Given the description of an element on the screen output the (x, y) to click on. 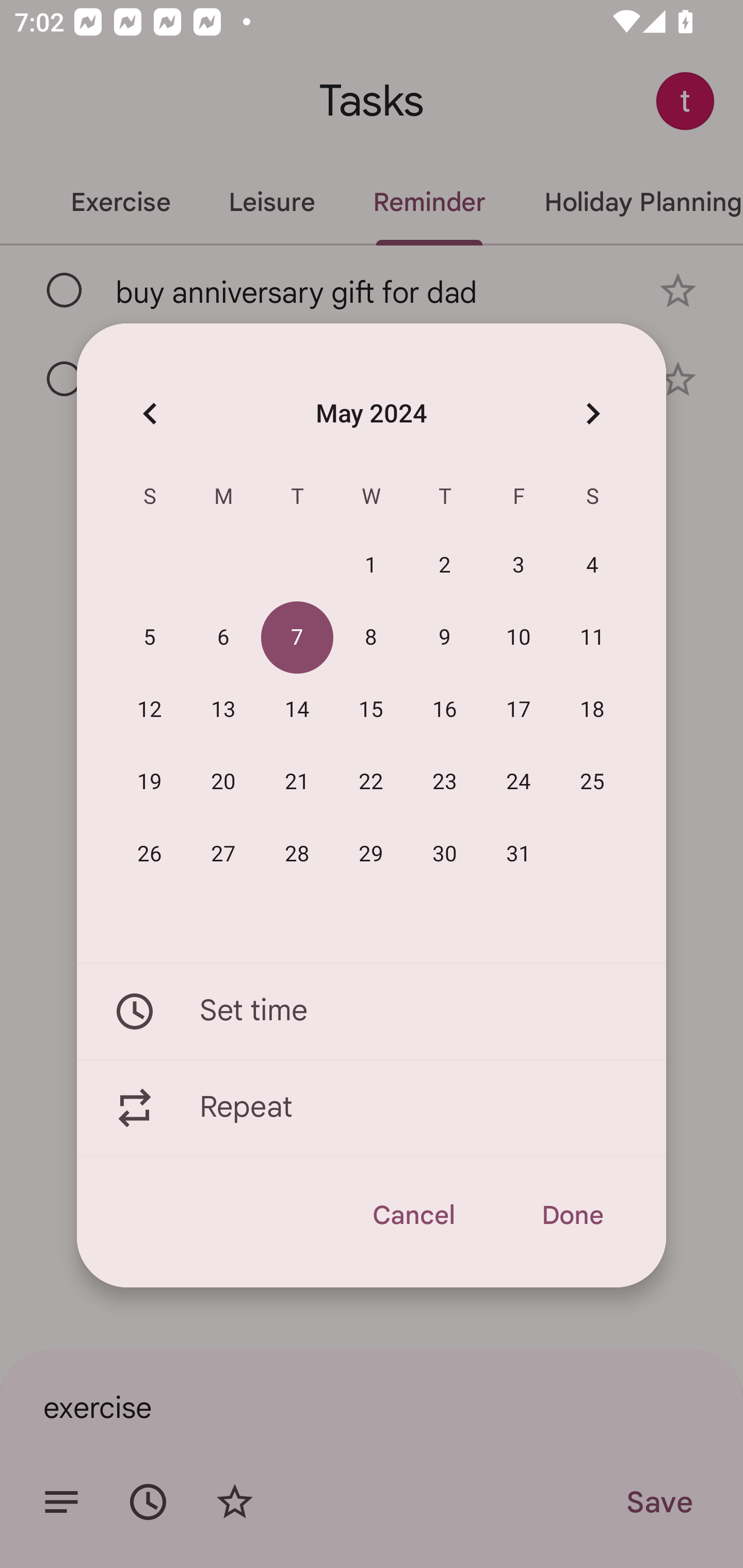
Previous month (149, 413)
Next month (592, 413)
1 01 May 2024 (370, 565)
2 02 May 2024 (444, 565)
3 03 May 2024 (518, 565)
4 04 May 2024 (592, 565)
5 05 May 2024 (149, 638)
6 06 May 2024 (223, 638)
7 07 May 2024 (297, 638)
8 08 May 2024 (370, 638)
9 09 May 2024 (444, 638)
10 10 May 2024 (518, 638)
11 11 May 2024 (592, 638)
12 12 May 2024 (149, 710)
13 13 May 2024 (223, 710)
14 14 May 2024 (297, 710)
15 15 May 2024 (370, 710)
16 16 May 2024 (444, 710)
17 17 May 2024 (518, 710)
18 18 May 2024 (592, 710)
19 19 May 2024 (149, 782)
20 20 May 2024 (223, 782)
21 21 May 2024 (297, 782)
22 22 May 2024 (370, 782)
23 23 May 2024 (444, 782)
24 24 May 2024 (518, 782)
25 25 May 2024 (592, 782)
26 26 May 2024 (149, 854)
27 27 May 2024 (223, 854)
28 28 May 2024 (297, 854)
29 29 May 2024 (370, 854)
30 30 May 2024 (444, 854)
31 31 May 2024 (518, 854)
Set time (371, 1011)
Repeat (371, 1108)
Cancel (412, 1215)
Done (571, 1215)
